Given the description of an element on the screen output the (x, y) to click on. 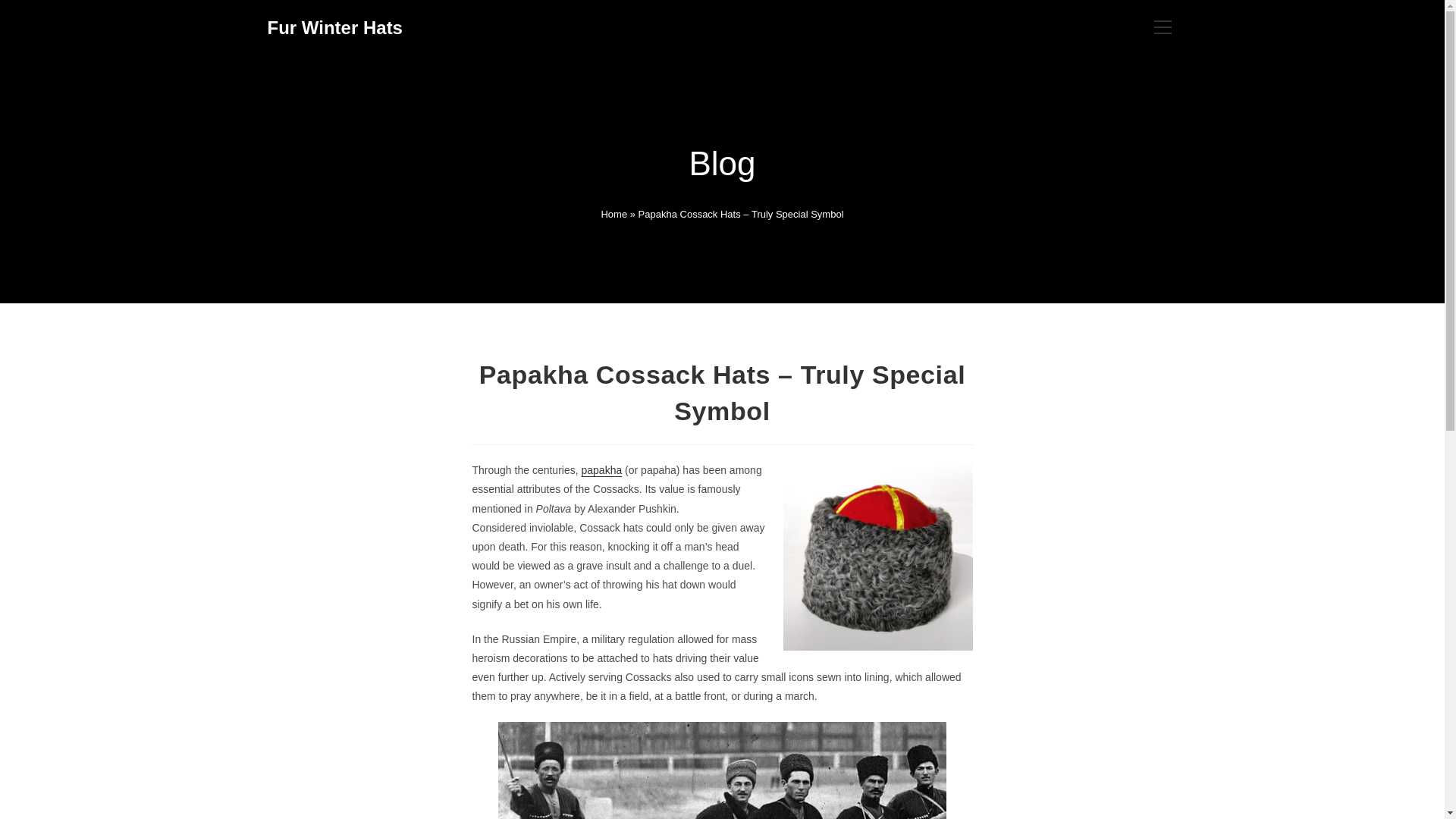
papakha (600, 469)
Home (613, 214)
Fur Winter Hats (333, 27)
